Given the description of an element on the screen output the (x, y) to click on. 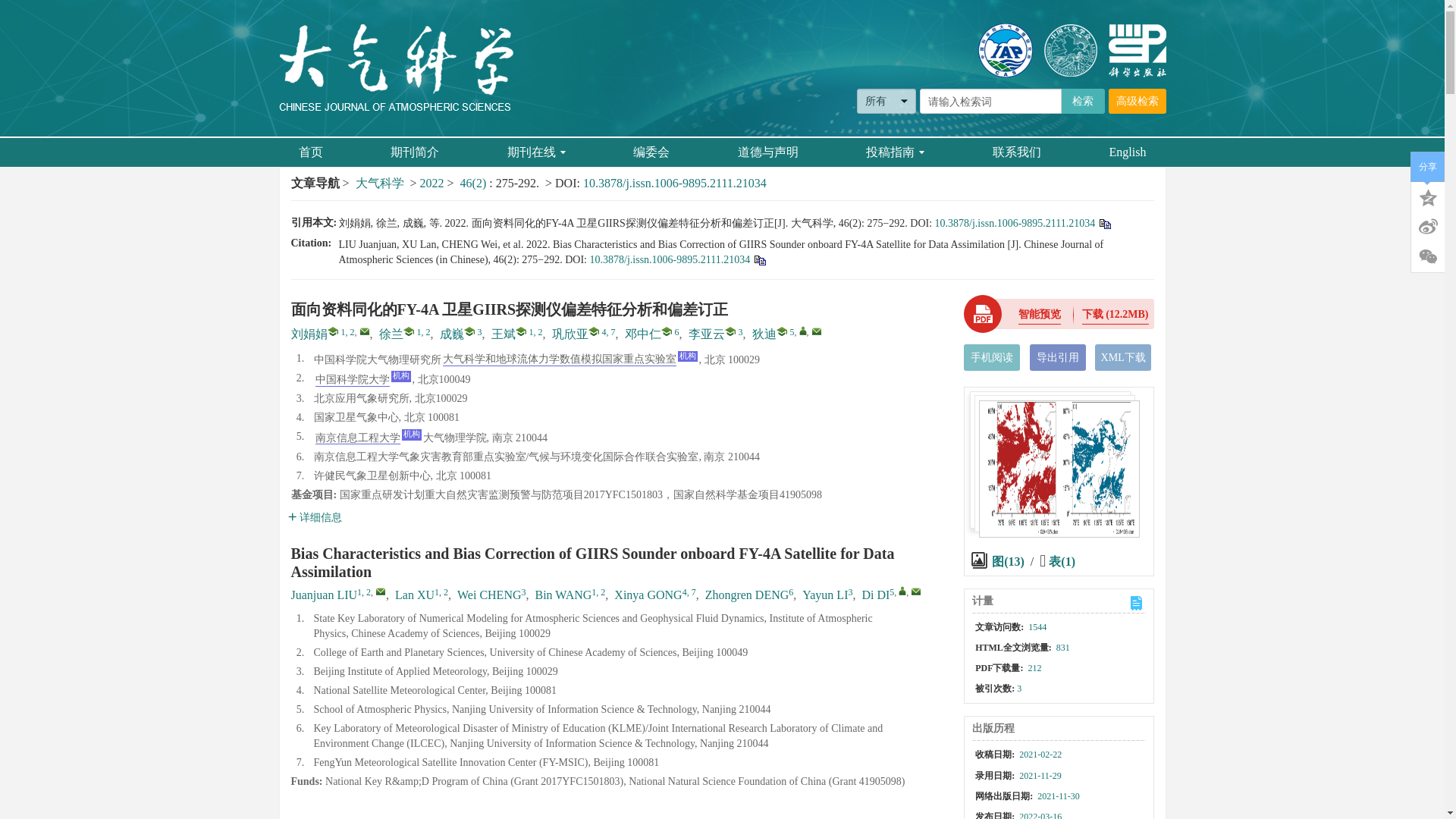
copy to clipboard (758, 259)
English (1127, 152)
